Given the description of an element on the screen output the (x, y) to click on. 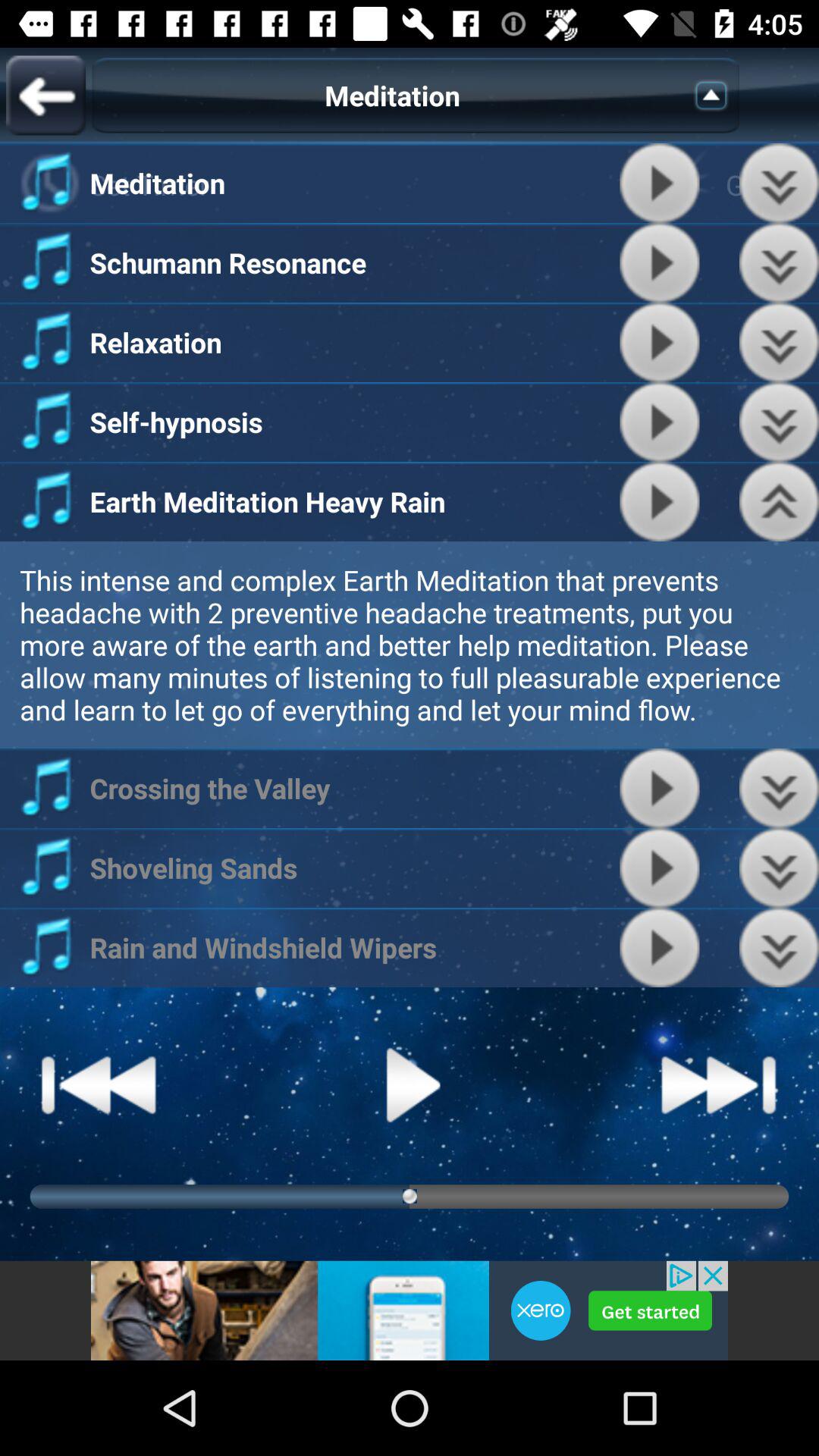
go to stop (659, 867)
